Given the description of an element on the screen output the (x, y) to click on. 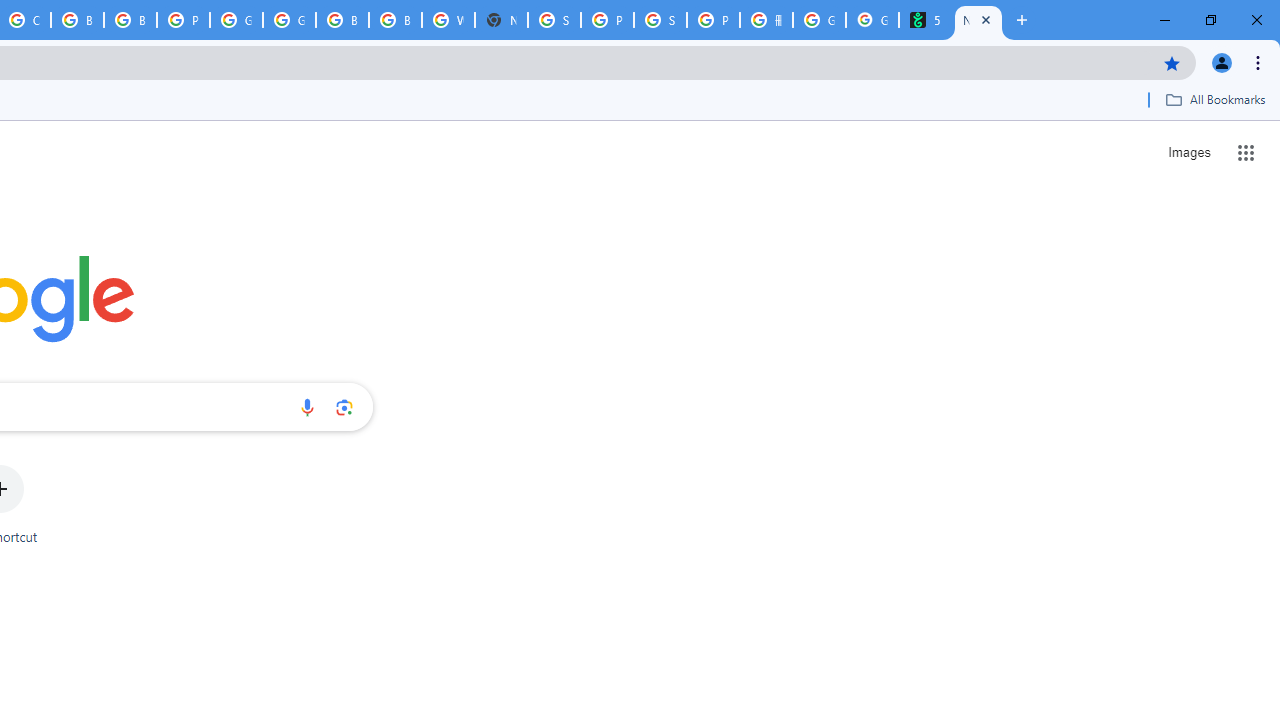
Google Cloud Platform (235, 20)
Google Cloud Platform (289, 20)
Sign in - Google Accounts (554, 20)
